Given the description of an element on the screen output the (x, y) to click on. 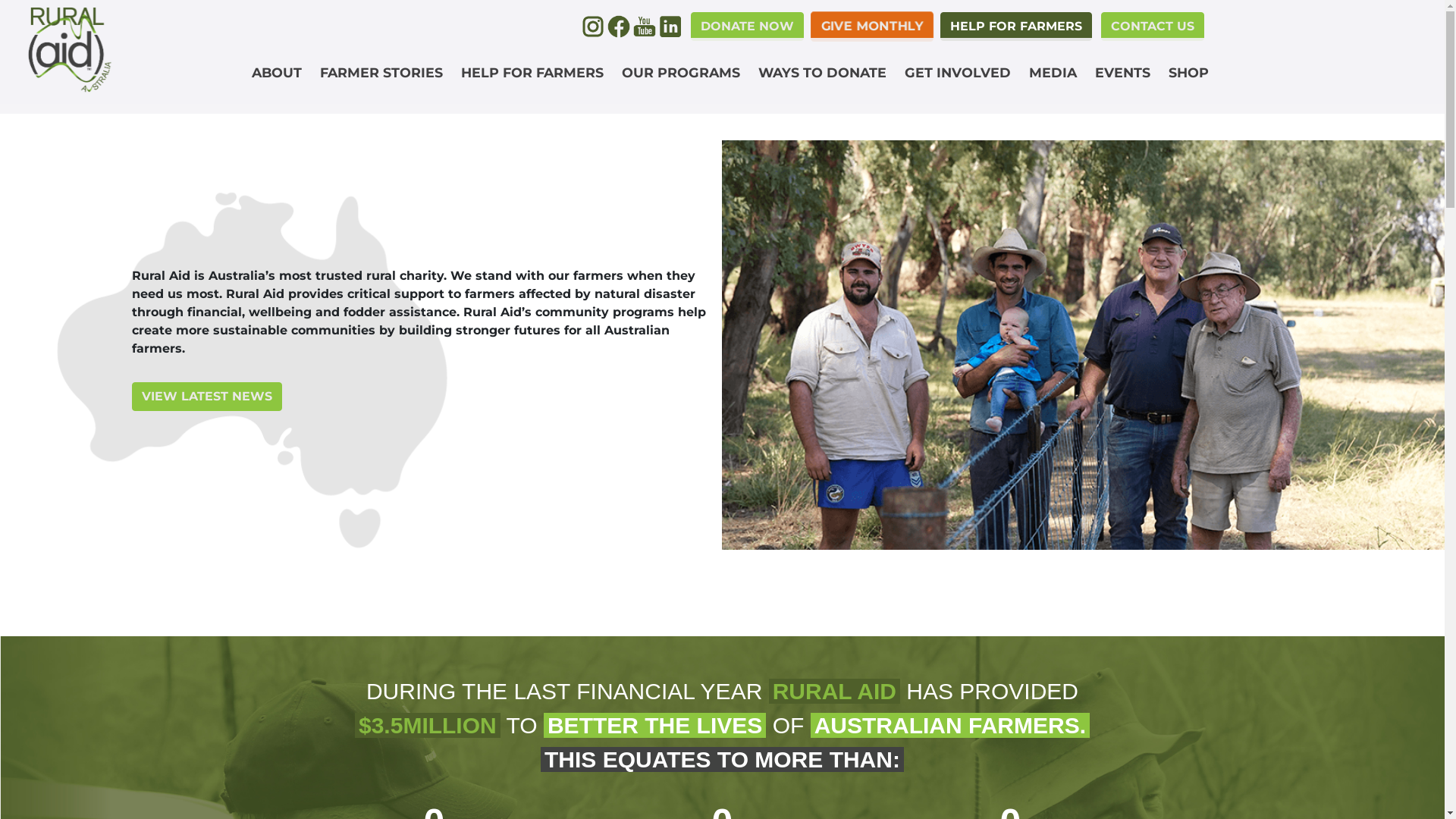
HELP FOR FARMERS Element type: text (1016, 26)
DONATE NOW Element type: text (746, 25)
CONTACT US Element type: text (1152, 26)
EVENTS Element type: text (1122, 72)
GIVE MONTHLY Element type: text (871, 25)
SHOP Element type: text (1188, 72)
HELP FOR FARMERS Element type: text (532, 72)
VIEW LATEST NEWS Element type: text (206, 396)
WAYS TO DONATE Element type: text (822, 72)
GIVE MONTHLY Element type: text (871, 26)
FARMER STORIES Element type: text (381, 72)
GET INVOLVED Element type: text (957, 72)
VIEW LATEST NEWS Element type: text (421, 396)
DONATE NOW Element type: text (746, 26)
OUR PROGRAMS Element type: text (680, 72)
ABOUT Element type: text (276, 72)
CONTACT US Element type: text (1149, 25)
HELP FOR FARMERS Element type: text (1016, 25)
MEDIA Element type: text (1052, 72)
